Given the description of an element on the screen output the (x, y) to click on. 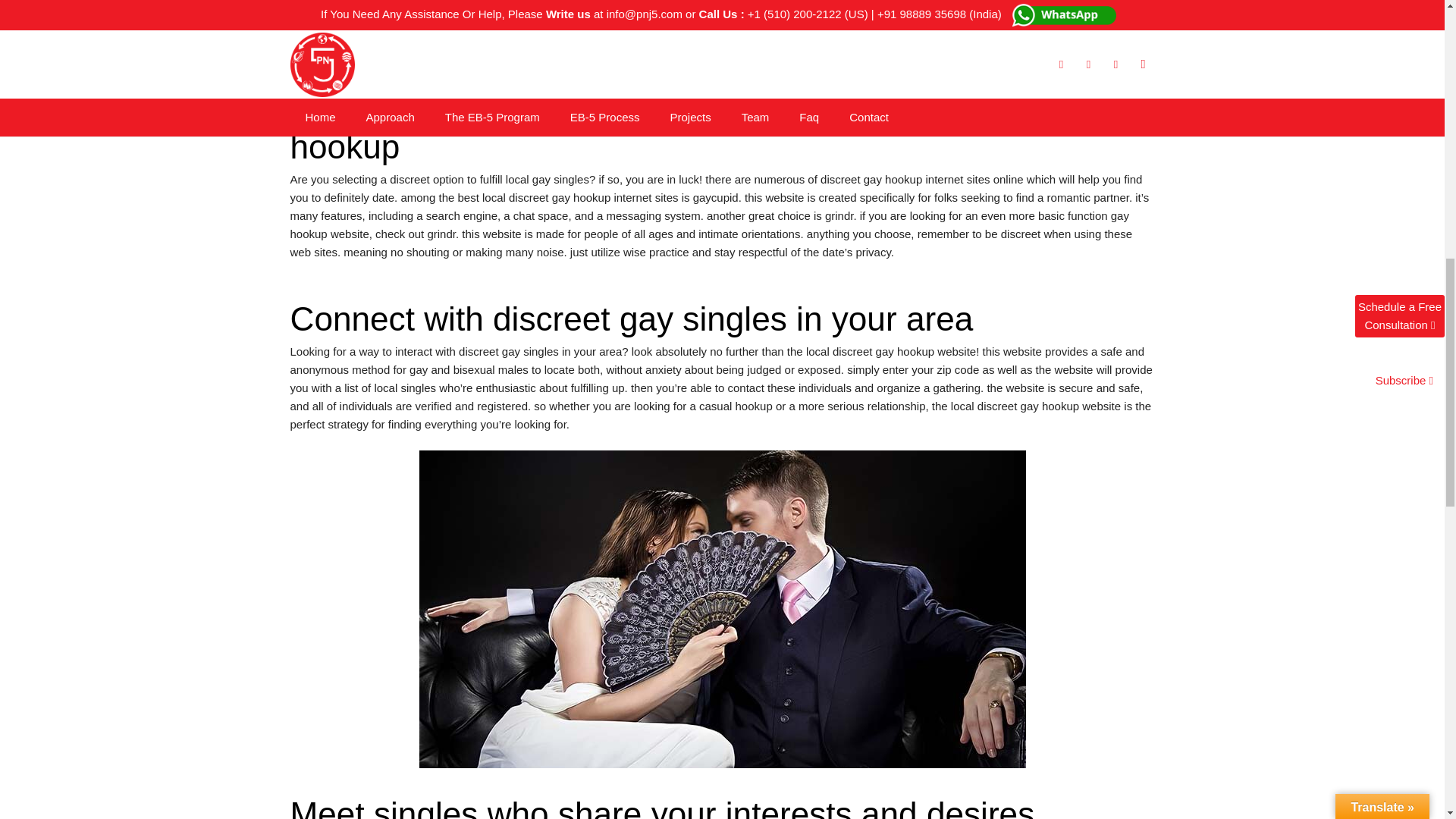
Back to top (1420, 11)
